Given the description of an element on the screen output the (x, y) to click on. 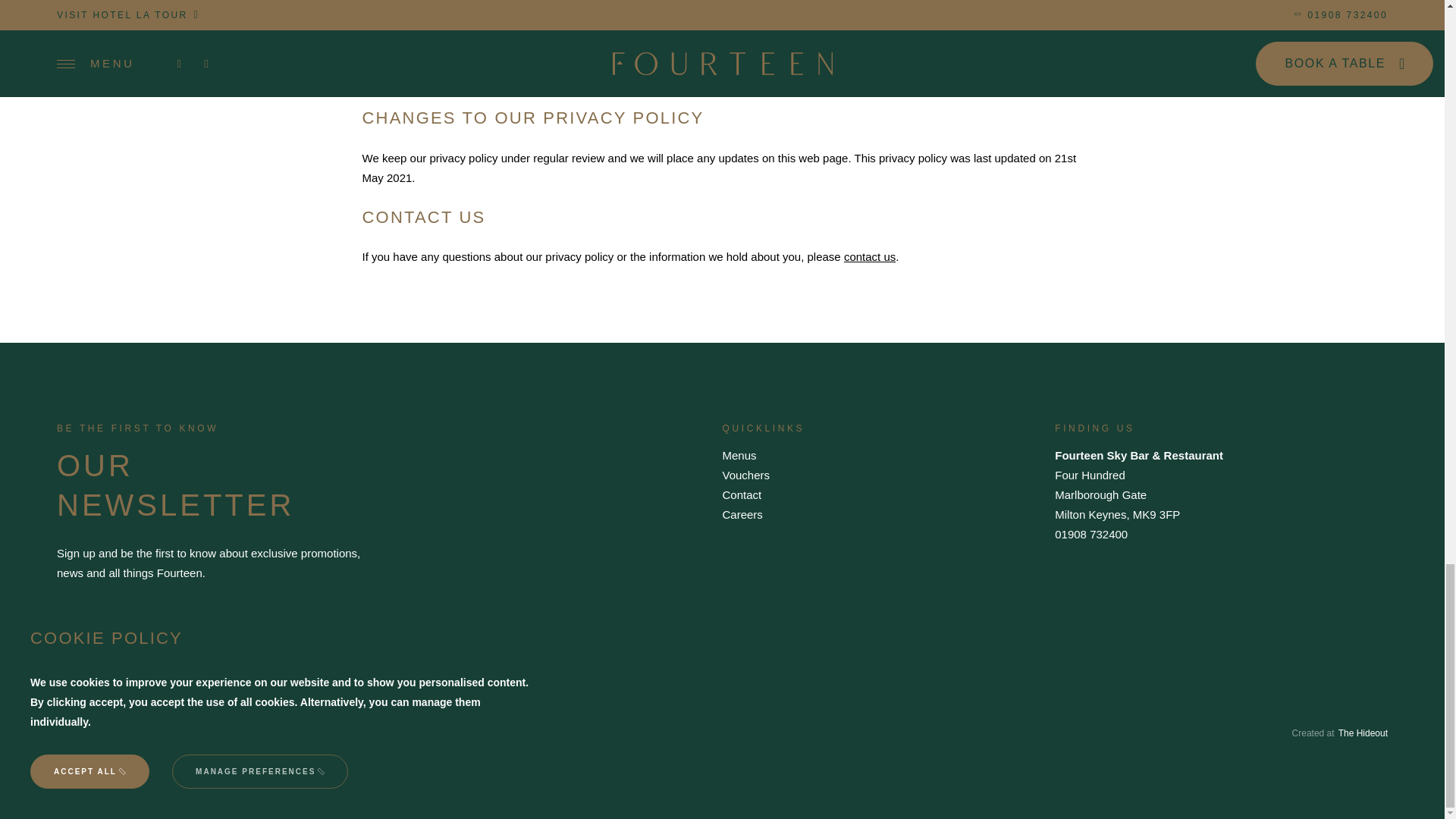
The Hideout (1362, 733)
contact us (869, 256)
Contact (741, 494)
Vouchers (746, 474)
Sitemap (447, 733)
Filming and photography (223, 733)
01908 732400 (1090, 533)
Menus (738, 454)
Cookie Policy (386, 733)
Careers (741, 513)
SIGN ME UP (120, 628)
Privacy Policy (316, 733)
